Given the description of an element on the screen output the (x, y) to click on. 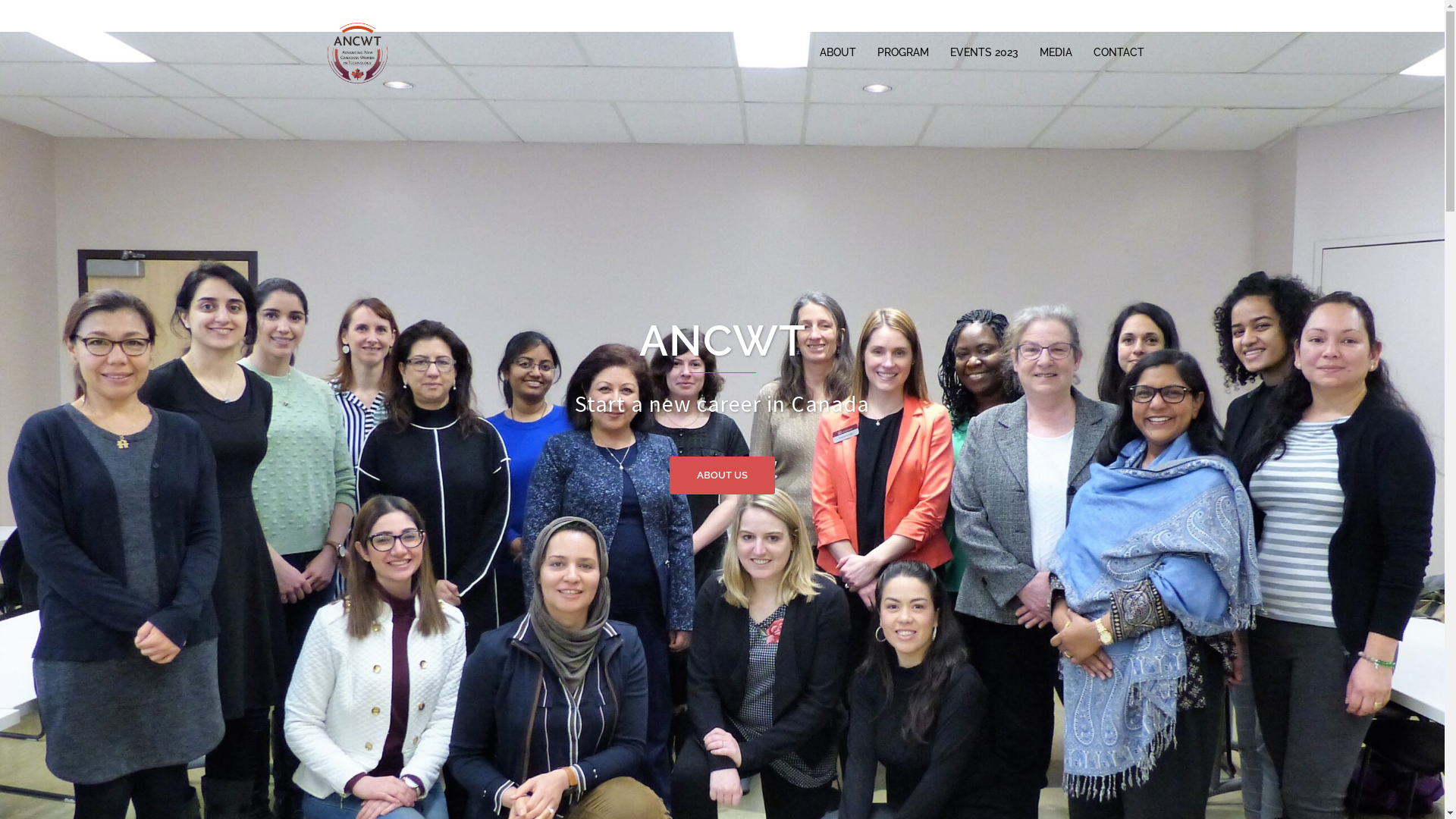
CONTACT Element type: text (1118, 52)
PROGRAM Element type: text (902, 52)
ANCWT Element type: hover (356, 51)
MEDIA Element type: text (1054, 52)
EVENTS 2023 Element type: text (983, 52)
ABOUT US Element type: text (722, 475)
ABOUT Element type: text (837, 52)
